Given the description of an element on the screen output the (x, y) to click on. 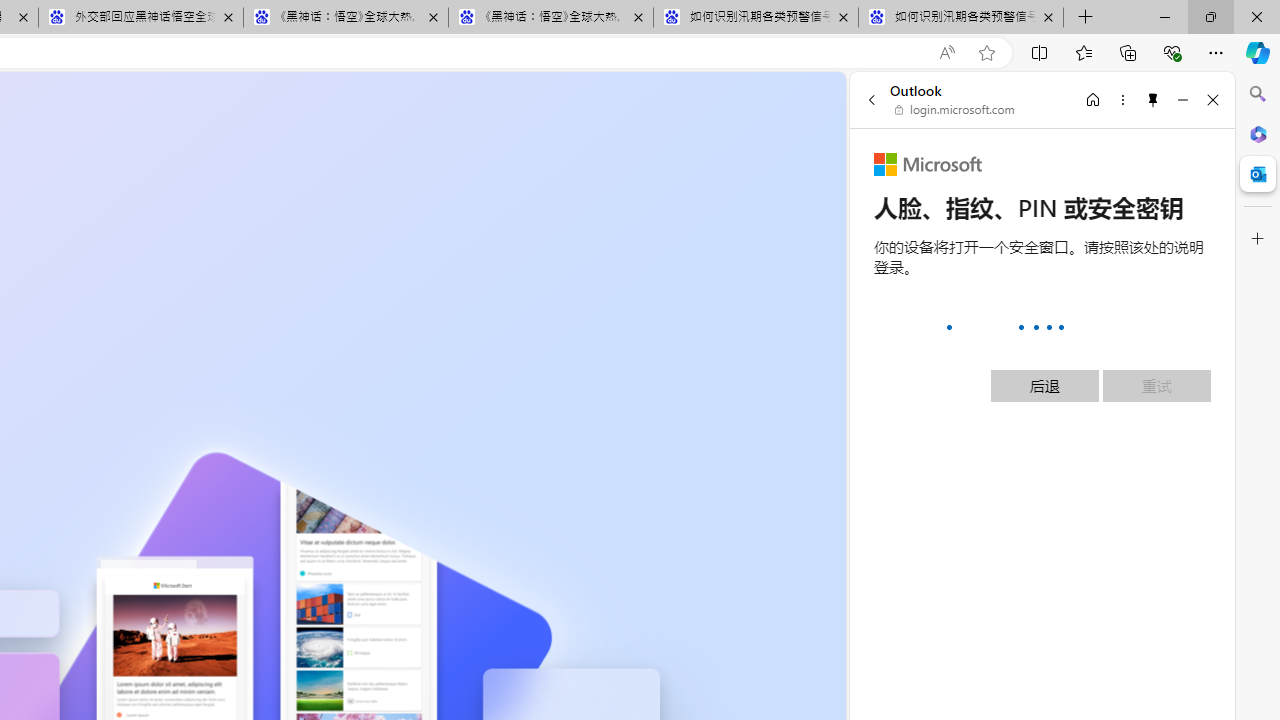
Microsoft (927, 164)
Unpin side pane (1153, 99)
